Given the description of an element on the screen output the (x, y) to click on. 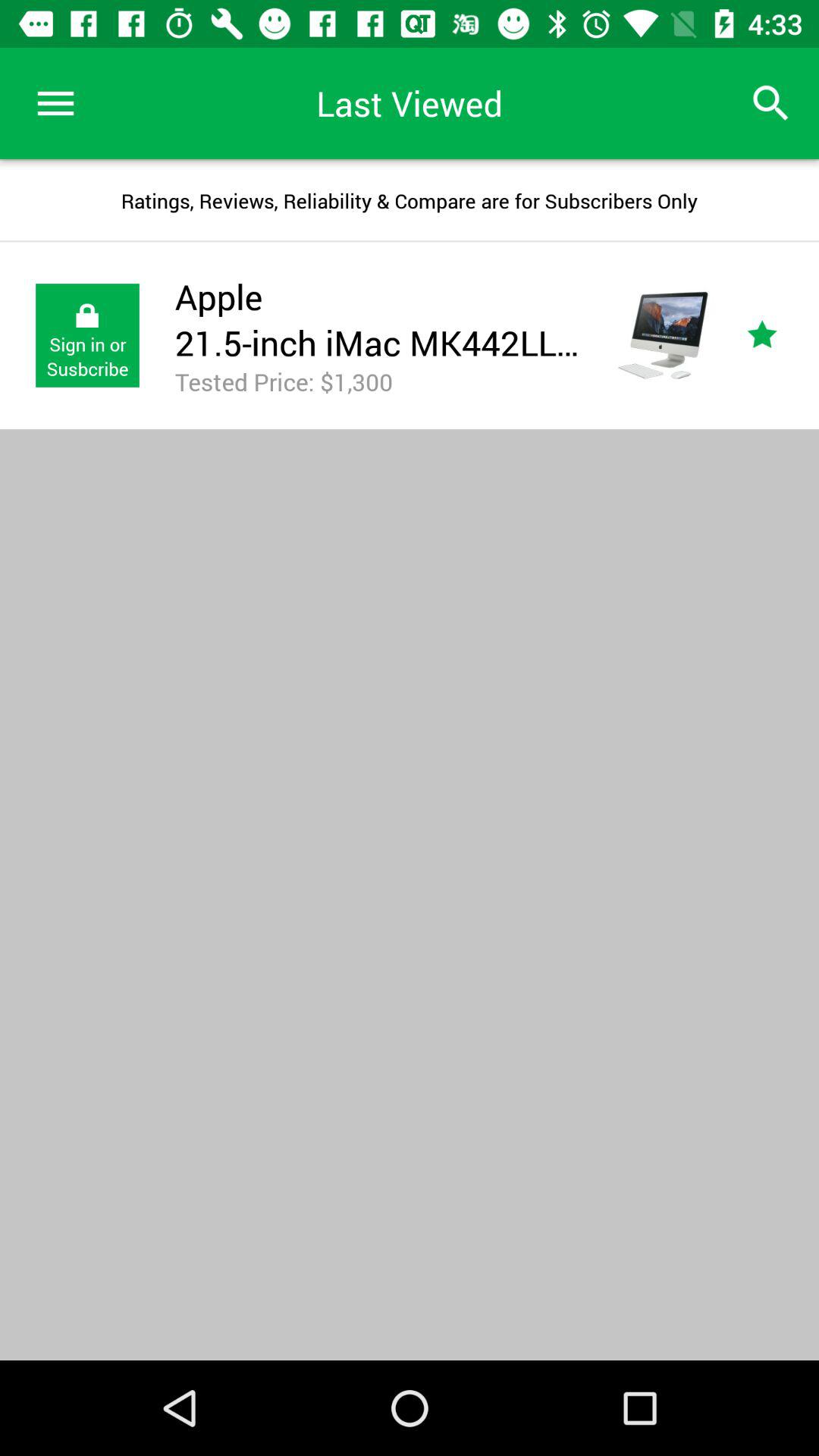
choose the item next to last viewed icon (55, 103)
